Given the description of an element on the screen output the (x, y) to click on. 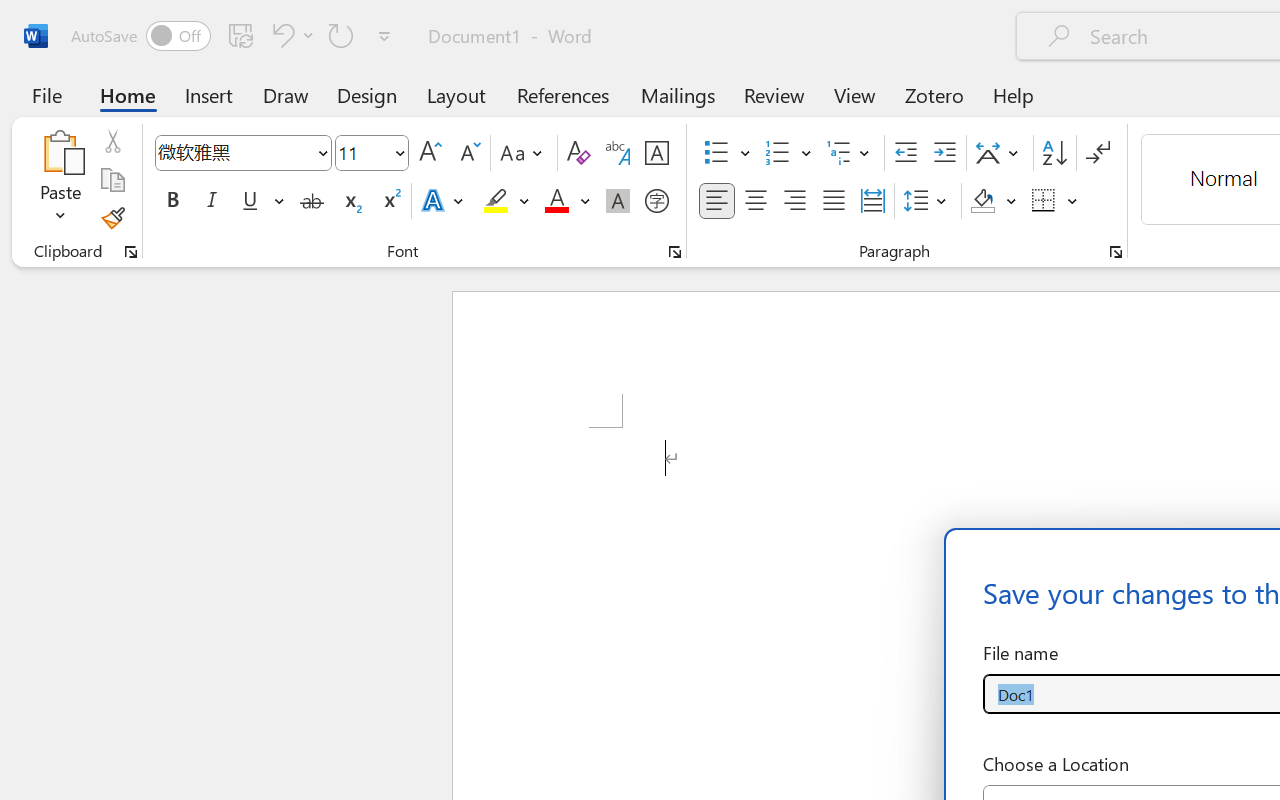
Font Color Red (556, 201)
Undo <ApplyStyleToDoc>b__0 (290, 35)
